Given the description of an element on the screen output the (x, y) to click on. 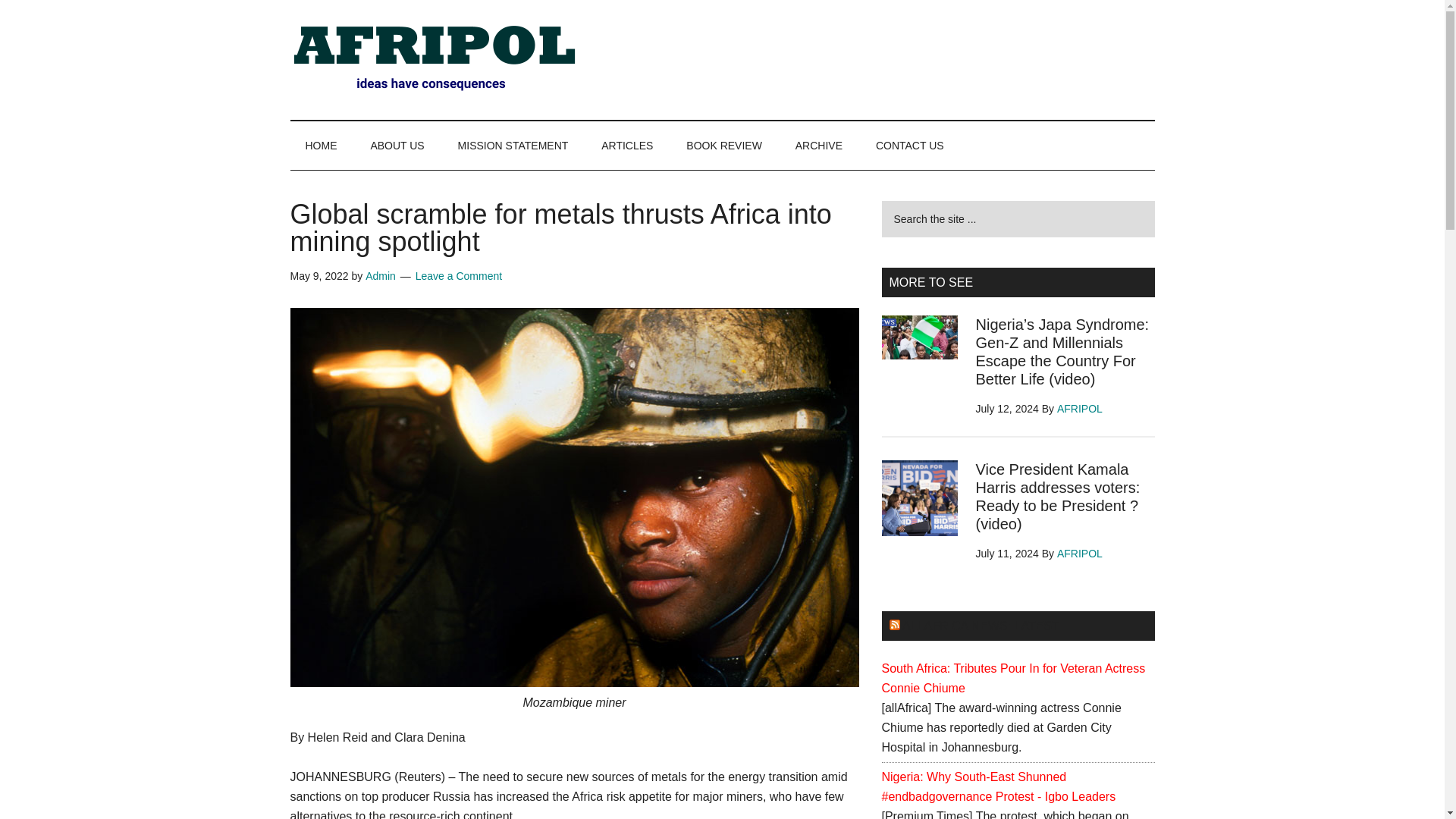
Admin (380, 275)
ABOUT US (397, 145)
ALLAFRICA NEWS: LATEST (980, 625)
HOME (320, 145)
AFRIPOL (1079, 553)
ARCHIVE (818, 145)
